Given the description of an element on the screen output the (x, y) to click on. 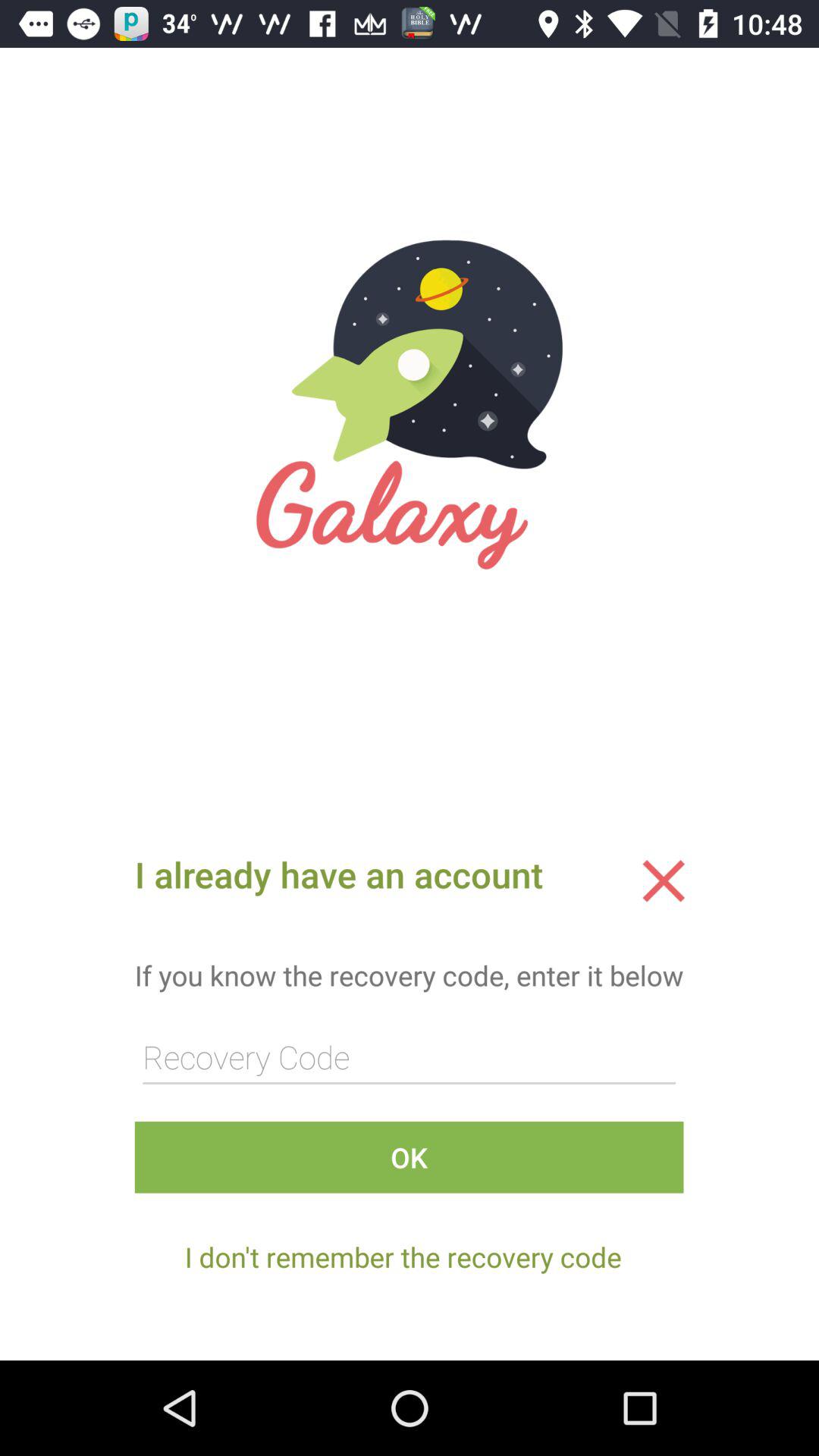
launch item below ok icon (402, 1256)
